Given the description of an element on the screen output the (x, y) to click on. 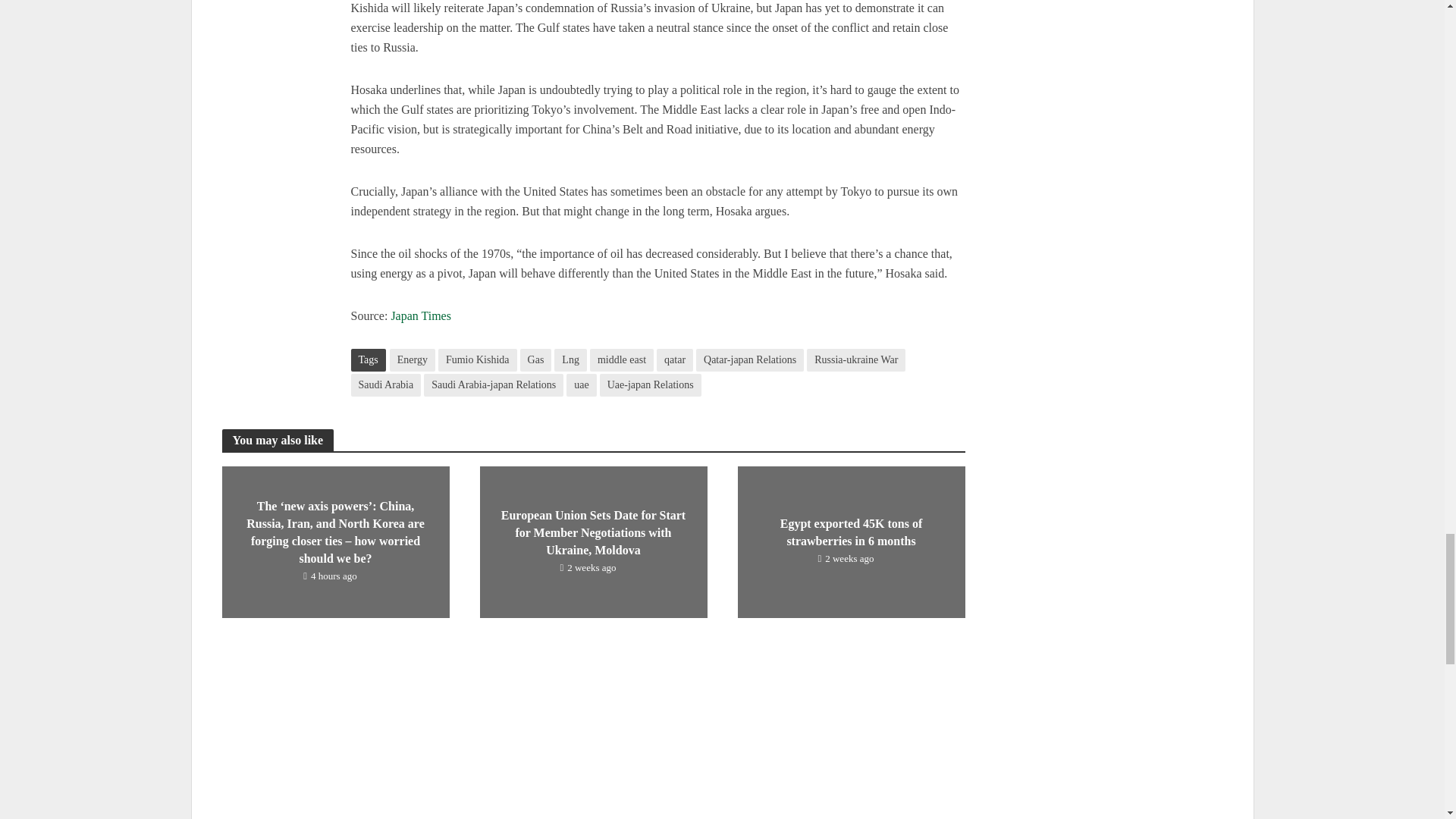
Egypt exported 45K tons of strawberries in 6 months (849, 540)
